Given the description of an element on the screen output the (x, y) to click on. 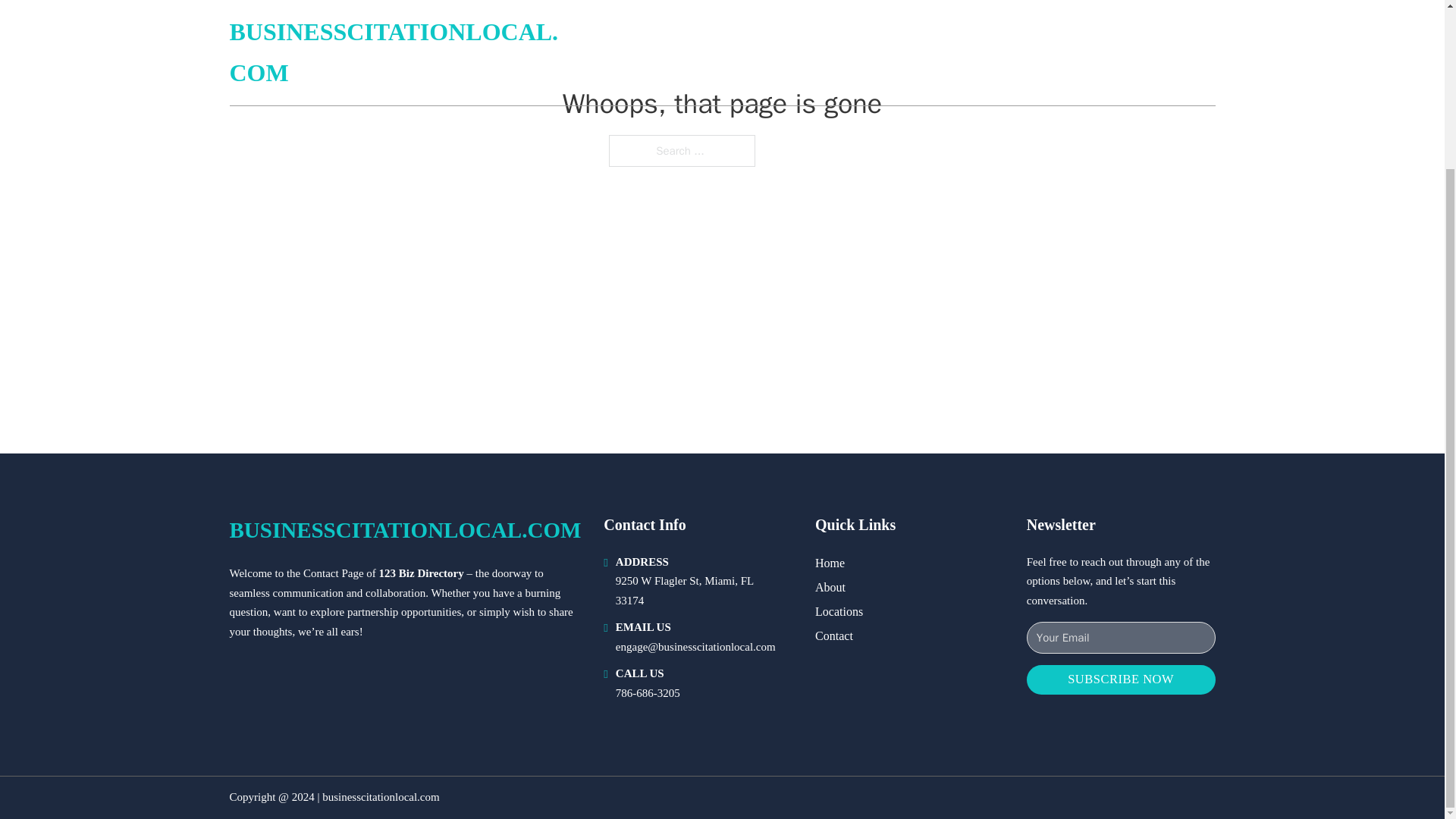
BUSINESSCITATIONLOCAL.COM (404, 529)
About (830, 587)
786-686-3205 (647, 693)
SUBSCRIBE NOW (1120, 679)
Home (829, 562)
Locations (839, 611)
Contact (834, 635)
